Given the description of an element on the screen output the (x, y) to click on. 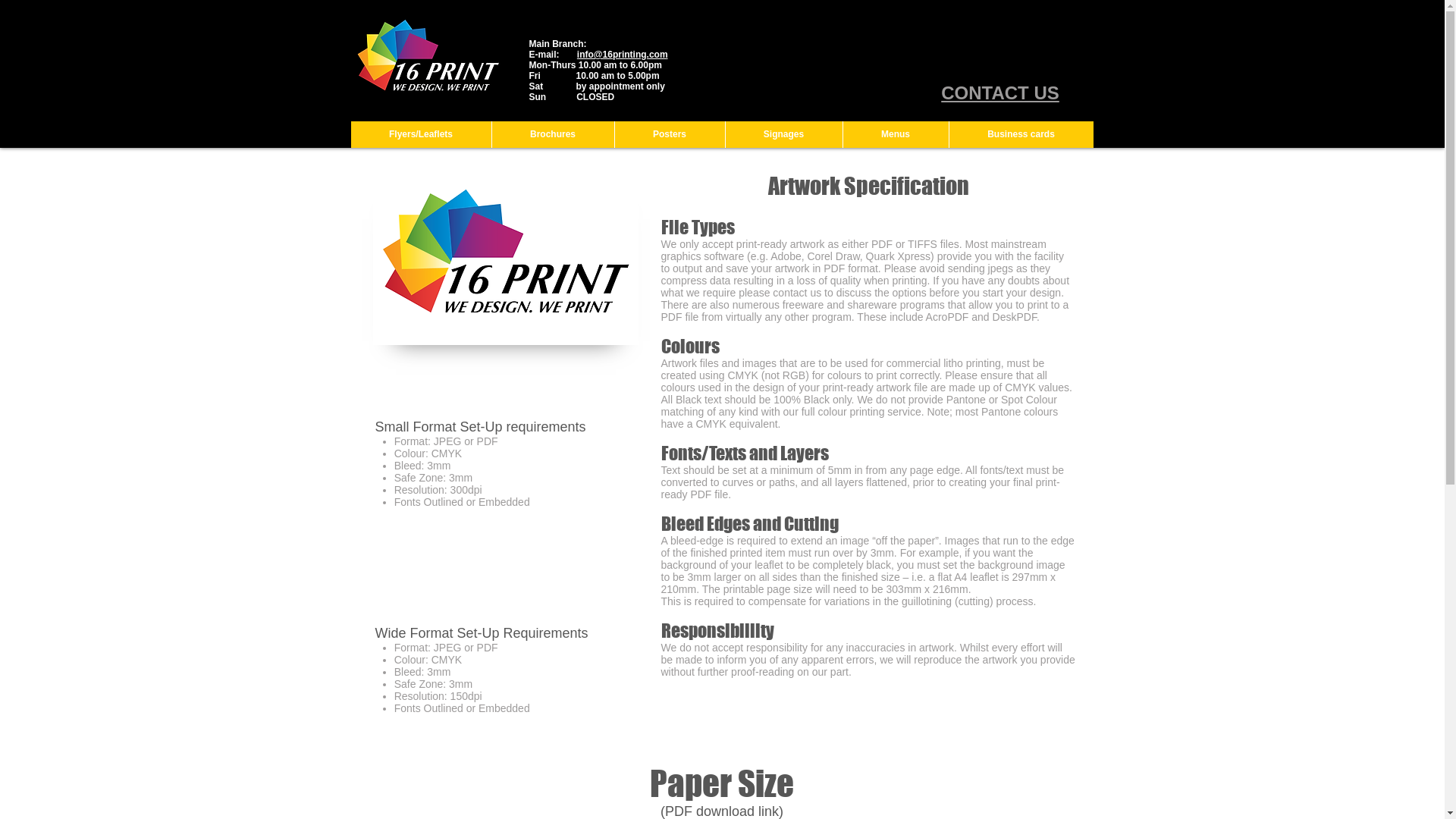
Flyers/Leaflets Element type: text (420, 134)
info@16printing.com Element type: text (622, 54)
Posters Element type: text (669, 134)
Menus Element type: text (894, 134)
CONTACT US Element type: text (1000, 92)
Brochures Element type: text (552, 134)
16printing sub logo-01.png Element type: hover (505, 261)
Business cards Element type: text (1019, 134)
Signages Element type: text (783, 134)
